Given the description of an element on the screen output the (x, y) to click on. 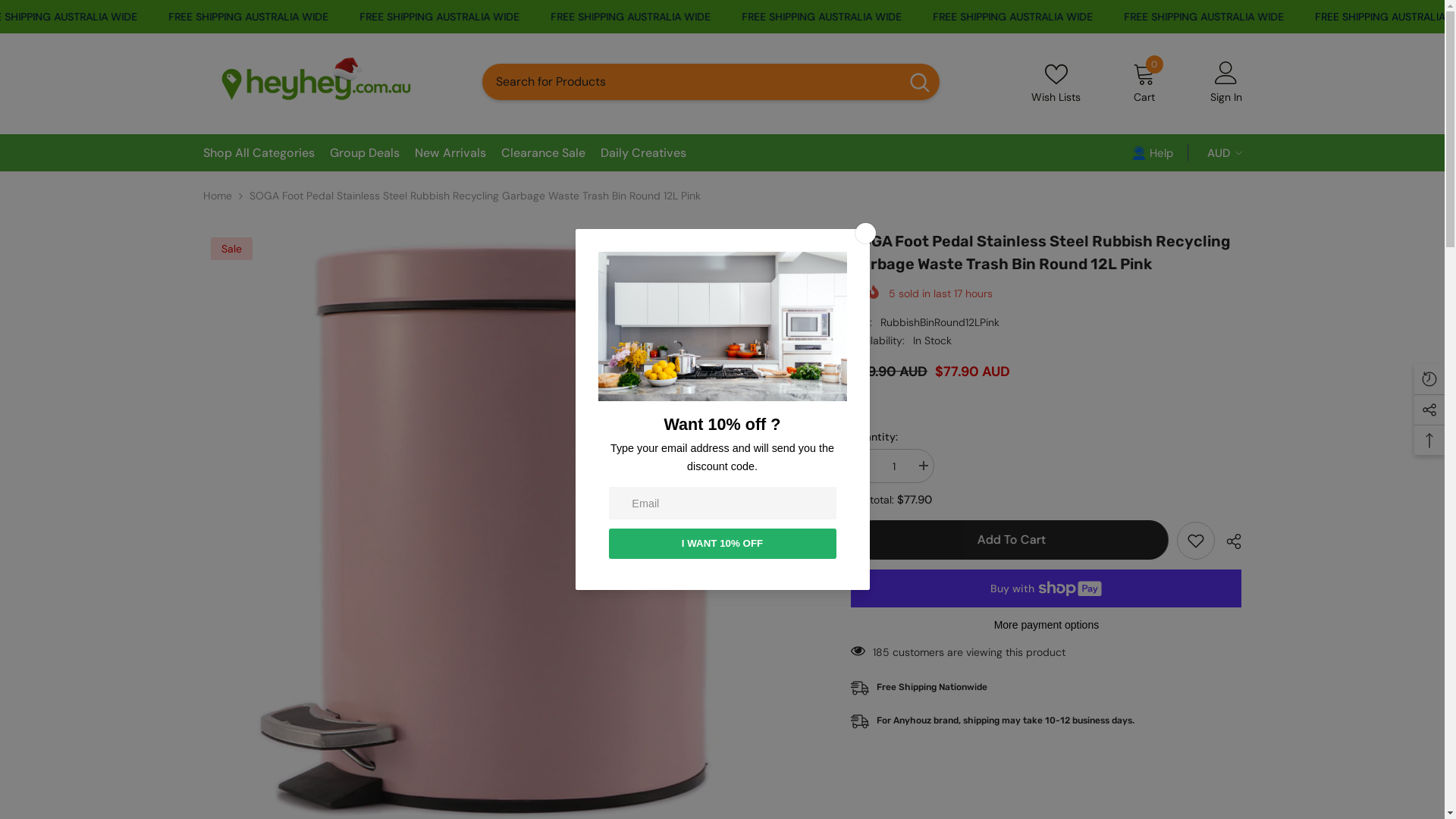
Home Element type: text (217, 195)
New Arrivals Element type: text (449, 156)
Shop All Categories Element type: text (258, 156)
More payment options Element type: text (1045, 624)
Group Deals Element type: text (363, 156)
Clearance Sale Element type: text (542, 156)
Cart
0
0 items Element type: text (1143, 81)
Add To Cart Element type: text (1010, 539)
Add to wishlist Element type: text (1195, 540)
Wish Lists Element type: text (1055, 81)
Share Element type: text (1227, 541)
Daily Creatives Element type: text (643, 156)
Sign In Element type: text (1226, 81)
Help Element type: text (1151, 152)
